Given the description of an element on the screen output the (x, y) to click on. 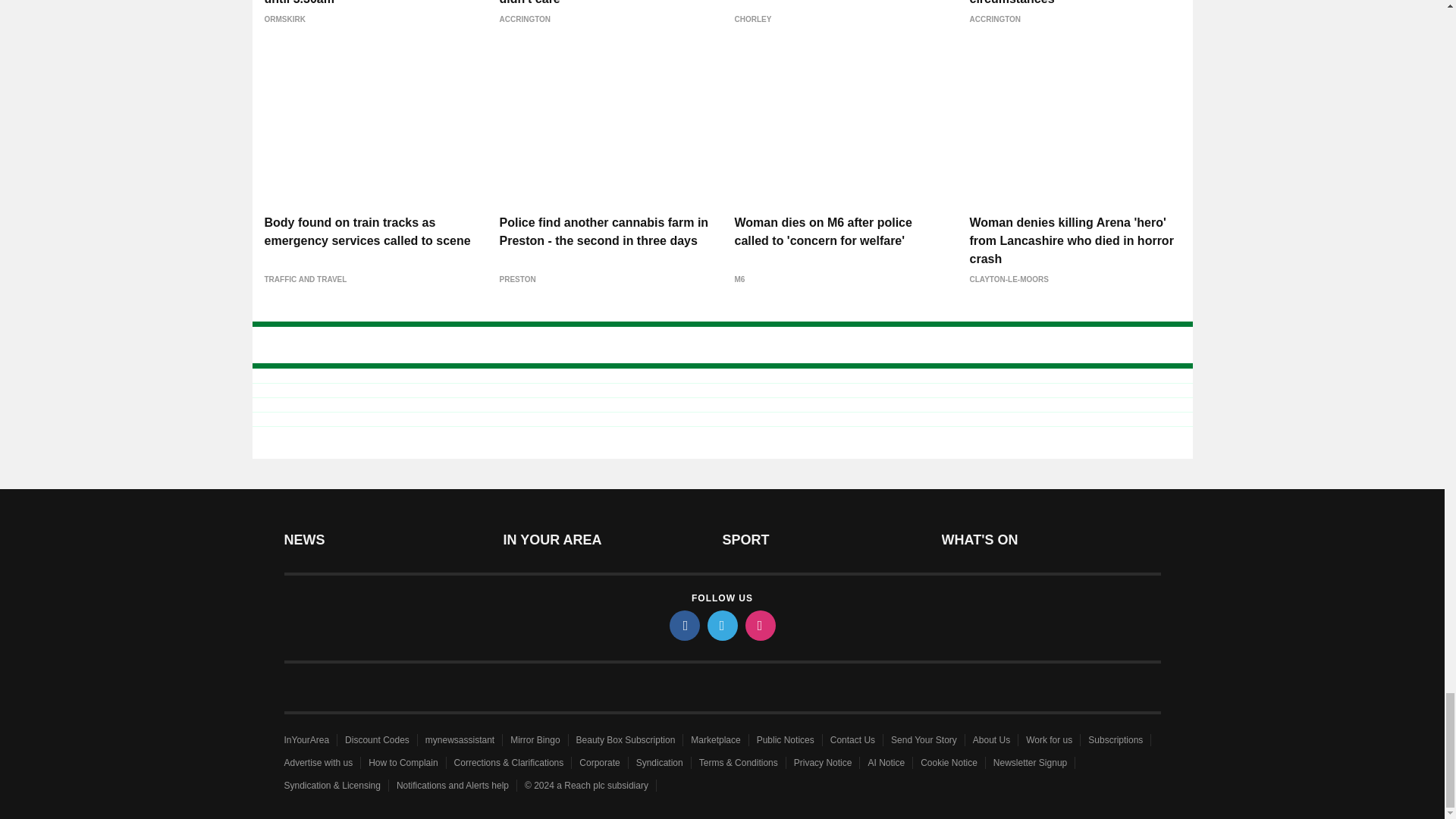
twitter (721, 625)
instagram (759, 625)
facebook (683, 625)
